Given the description of an element on the screen output the (x, y) to click on. 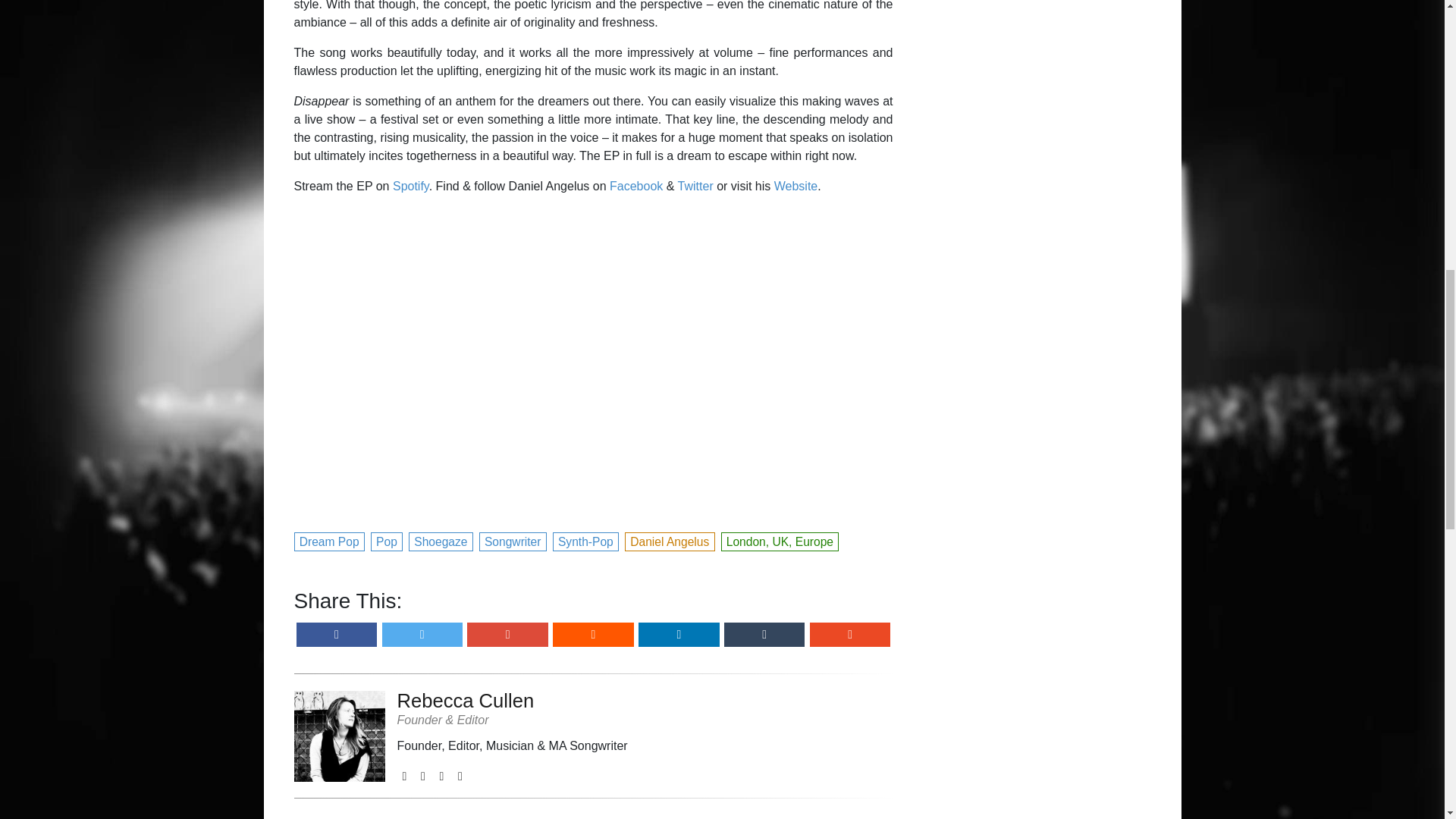
London, UK, Europe (780, 539)
Pop (387, 539)
Facebook (636, 185)
Dream Pop (330, 539)
Spotify (411, 185)
Website (796, 185)
Twitter (695, 185)
Rebecca Cullen (512, 700)
Synth-Pop (586, 539)
Songwriter (513, 539)
